Given the description of an element on the screen output the (x, y) to click on. 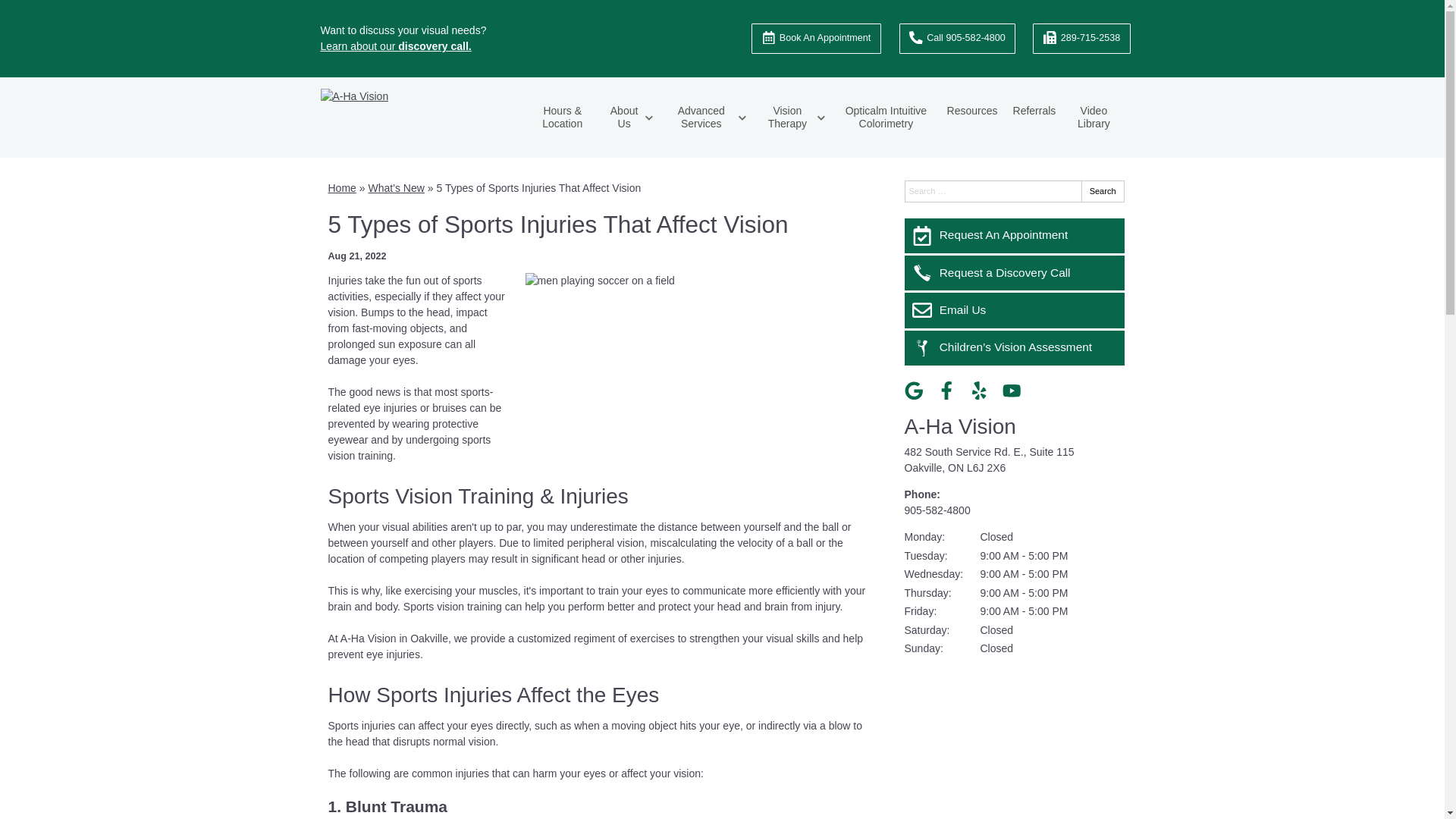
Home Element type: text (341, 188)
A-Ha Vision Element type: text (959, 426)
905-582-4800 Element type: text (936, 510)
Request An Appointment Element type: text (1013, 235)
Hours & Location Element type: text (562, 117)
Resources Element type: text (972, 111)
Request a Discovery Call Element type: text (1013, 272)
About Us Element type: text (629, 117)
Call 905-582-4800 Element type: text (957, 38)
Referrals Element type: text (1034, 111)
Learn about our discovery call. Element type: text (395, 46)
Advanced Services Element type: text (706, 117)
Opticalm Intuitive Colorimetry Element type: text (885, 117)
Vision Therapy Element type: text (793, 117)
Book An Appointment Element type: text (816, 38)
289-715-2538 Element type: text (1081, 38)
Email Us Element type: text (1013, 309)
Video Library Element type: text (1093, 117)
Search Element type: text (1102, 191)
